Given the description of an element on the screen output the (x, y) to click on. 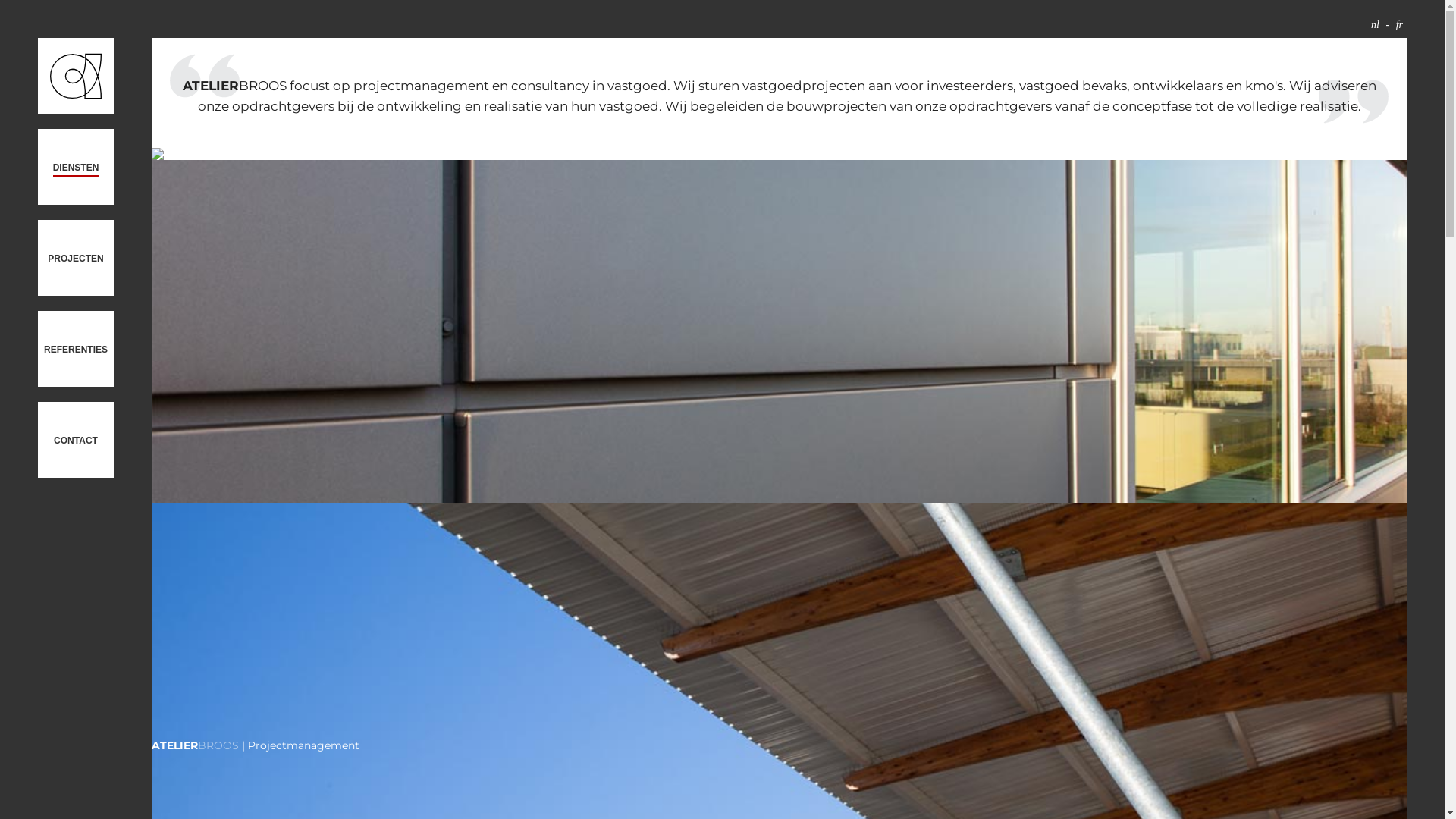
DIENSTEN Element type: text (75, 166)
fr Element type: text (1399, 24)
CONTACT Element type: text (75, 439)
REFERENTIES Element type: text (75, 348)
PROJECTEN Element type: text (75, 257)
nl Element type: text (1375, 24)
